Given the description of an element on the screen output the (x, y) to click on. 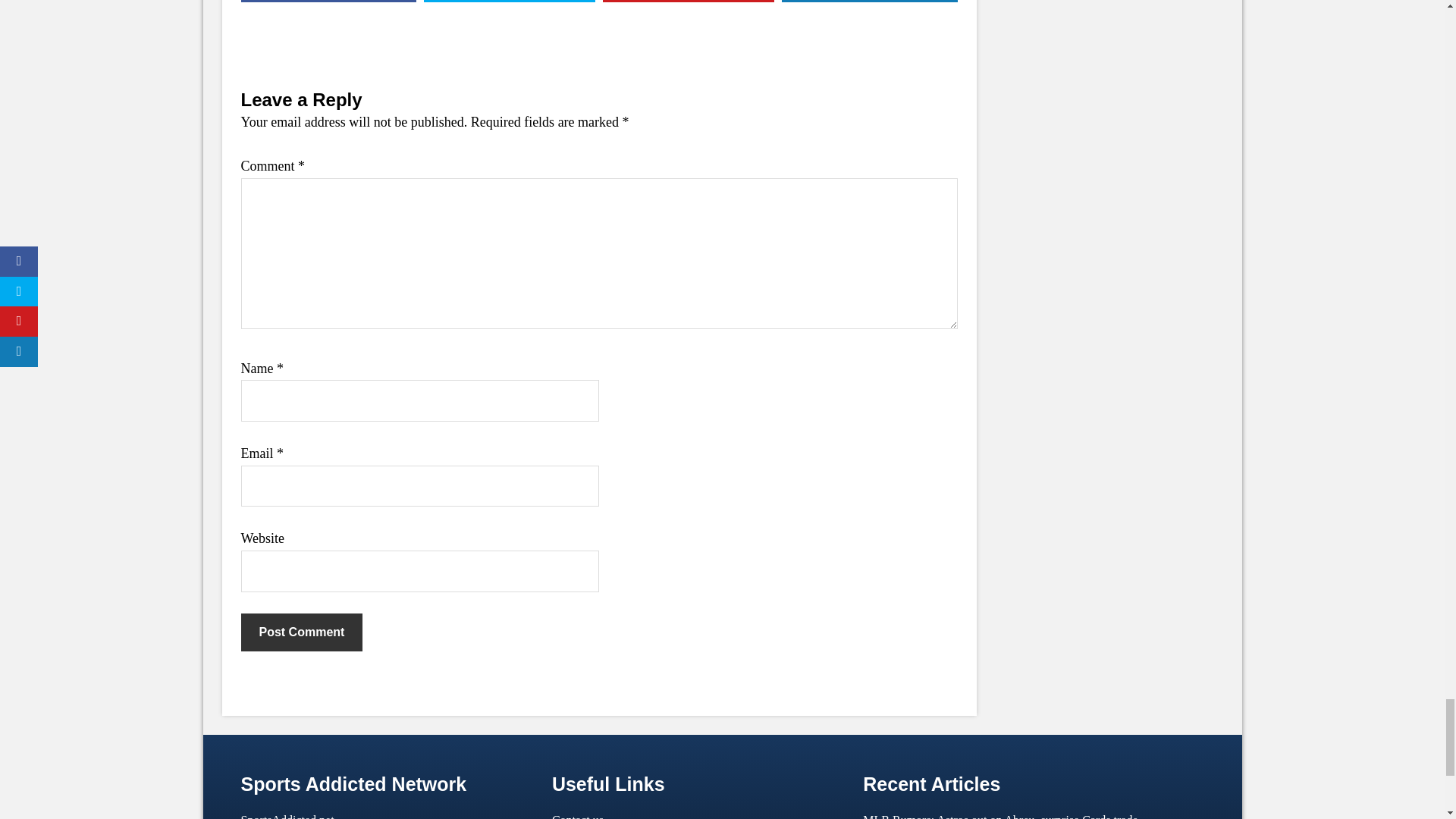
Post Comment (301, 632)
